Given the description of an element on the screen output the (x, y) to click on. 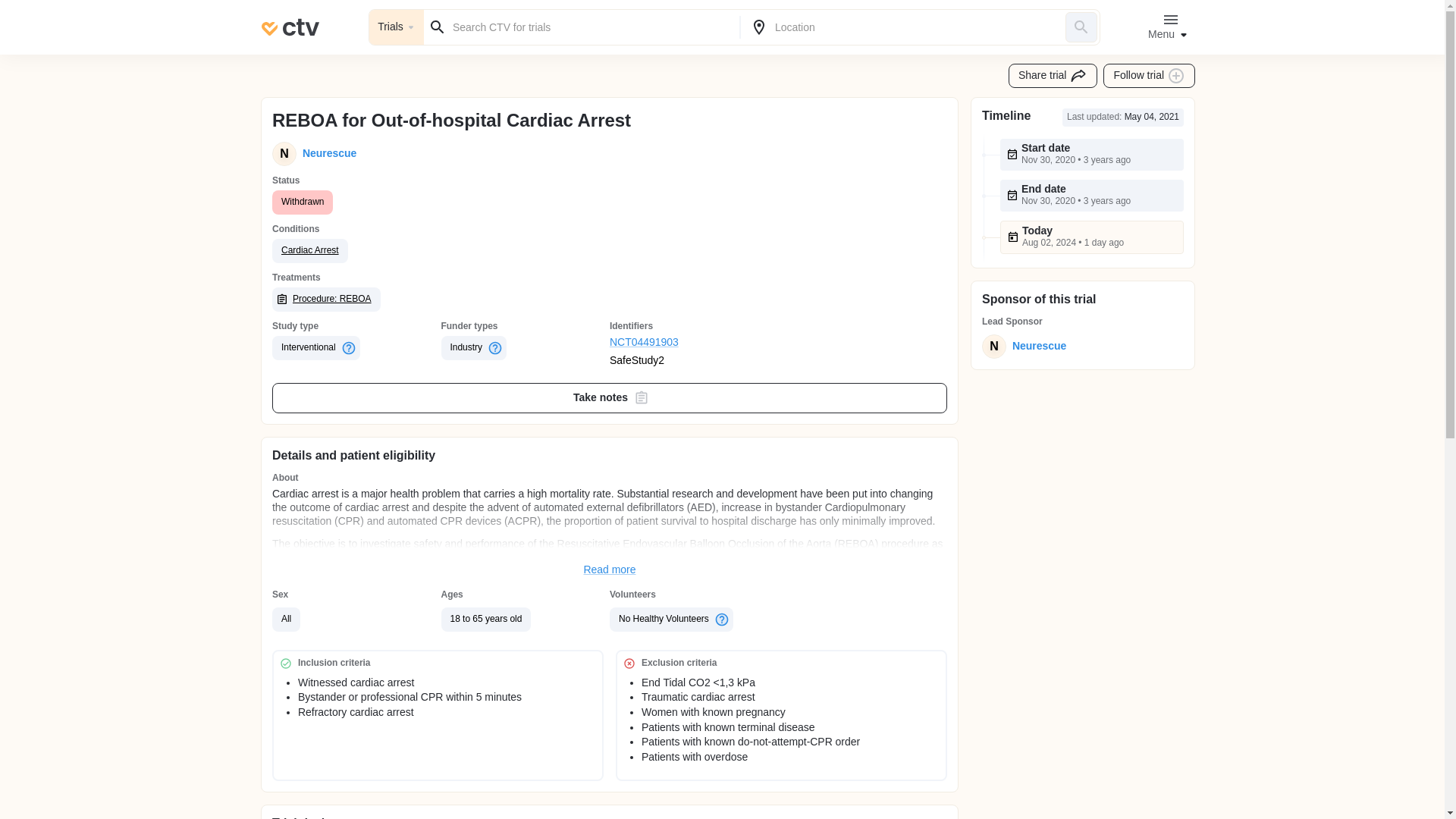
Neurescue (326, 153)
Follow trial (1149, 75)
Take notes (609, 398)
Share trial (1053, 75)
NCT04491903 (694, 342)
Neurescue (1035, 345)
Read more (609, 570)
Trials (396, 27)
